Given the description of an element on the screen output the (x, y) to click on. 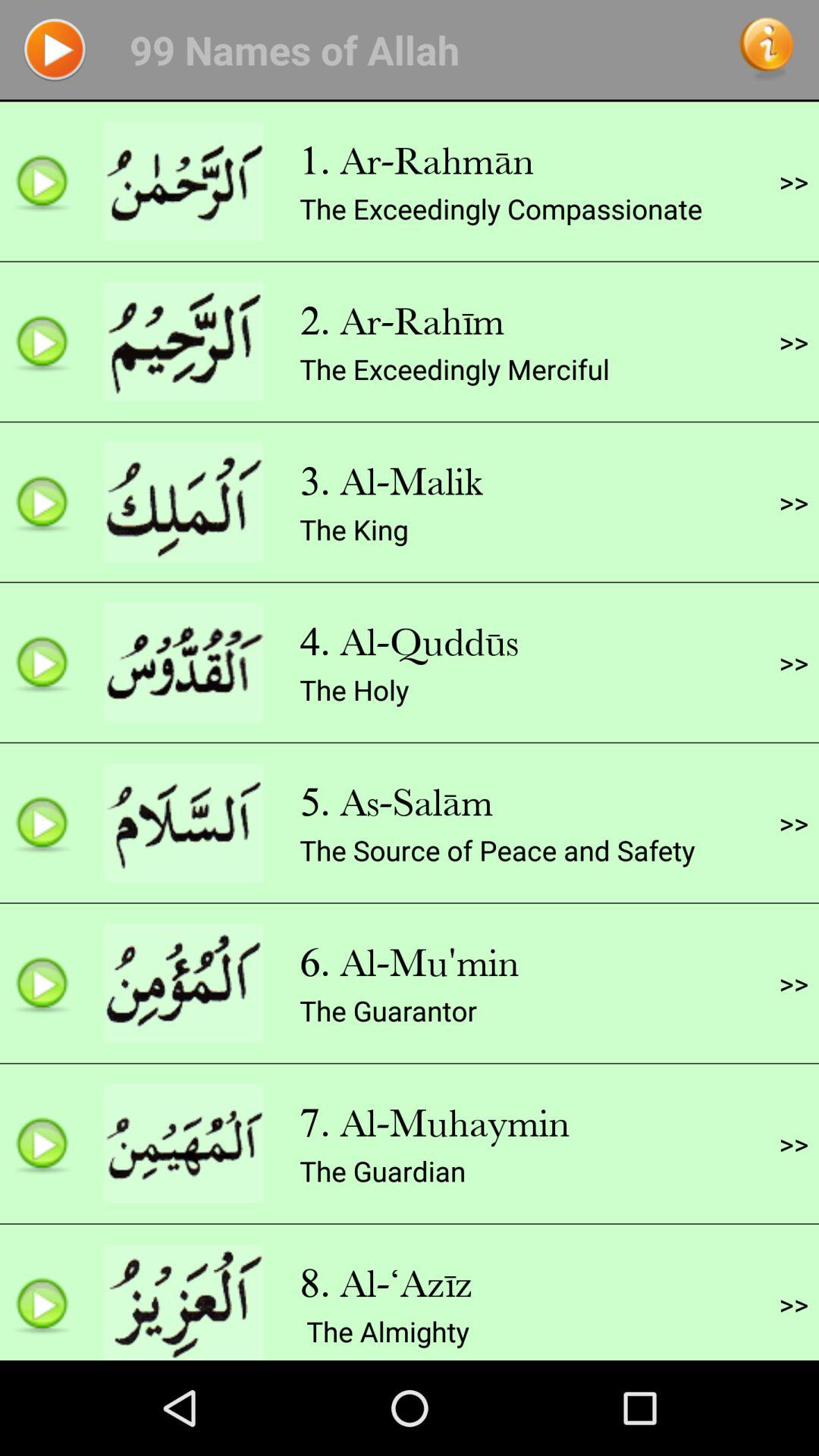
press item below the >> (793, 662)
